Given the description of an element on the screen output the (x, y) to click on. 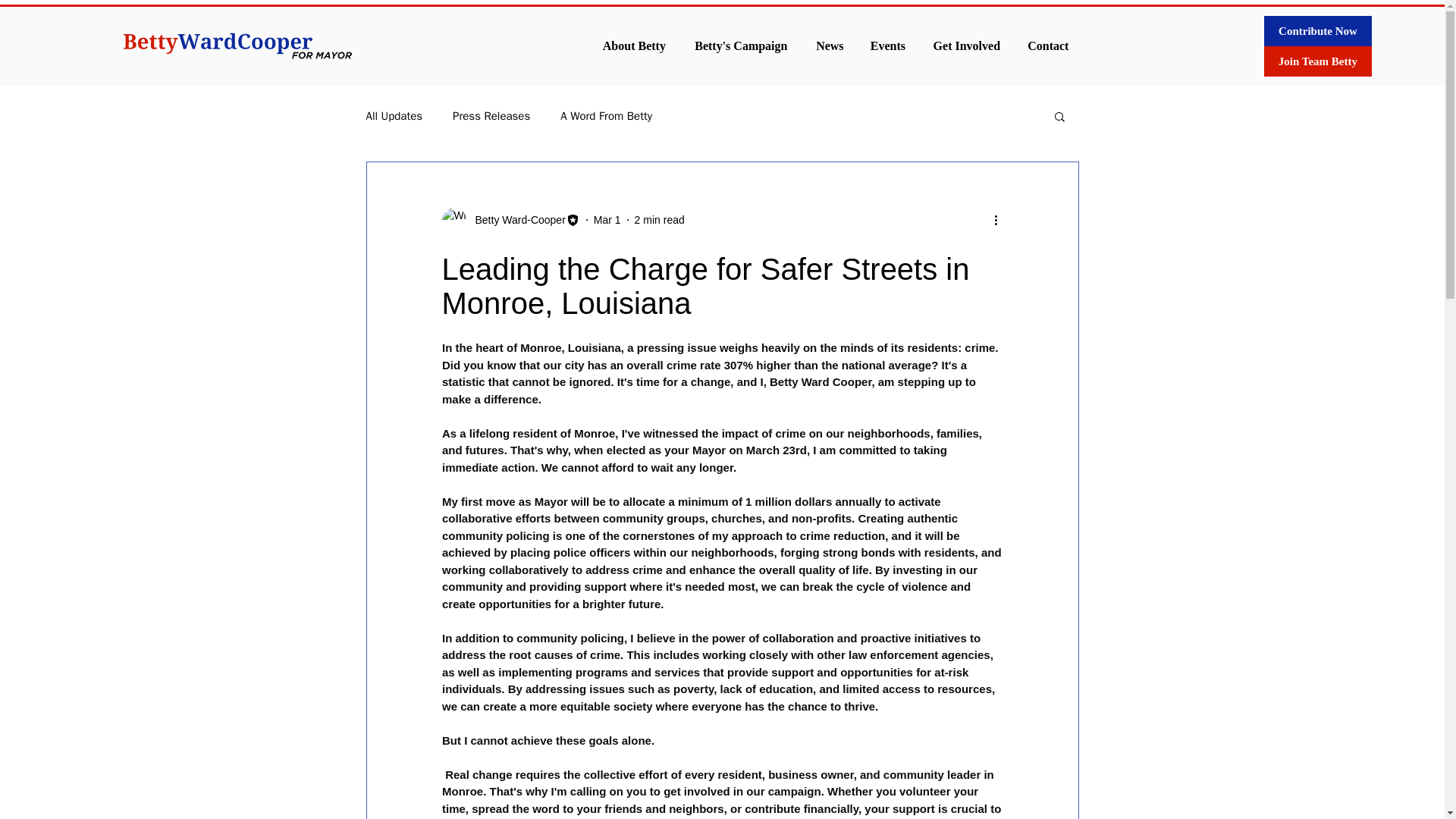
Events (887, 45)
Betty Ward-Cooper (510, 219)
Contact (1047, 45)
Betty Ward-Cooper (514, 220)
About Betty (633, 45)
Contribute Now (1317, 30)
Join Team Betty (1317, 60)
Press Releases (490, 115)
Get Involved (966, 45)
A Word From Betty (606, 115)
